Given the description of an element on the screen output the (x, y) to click on. 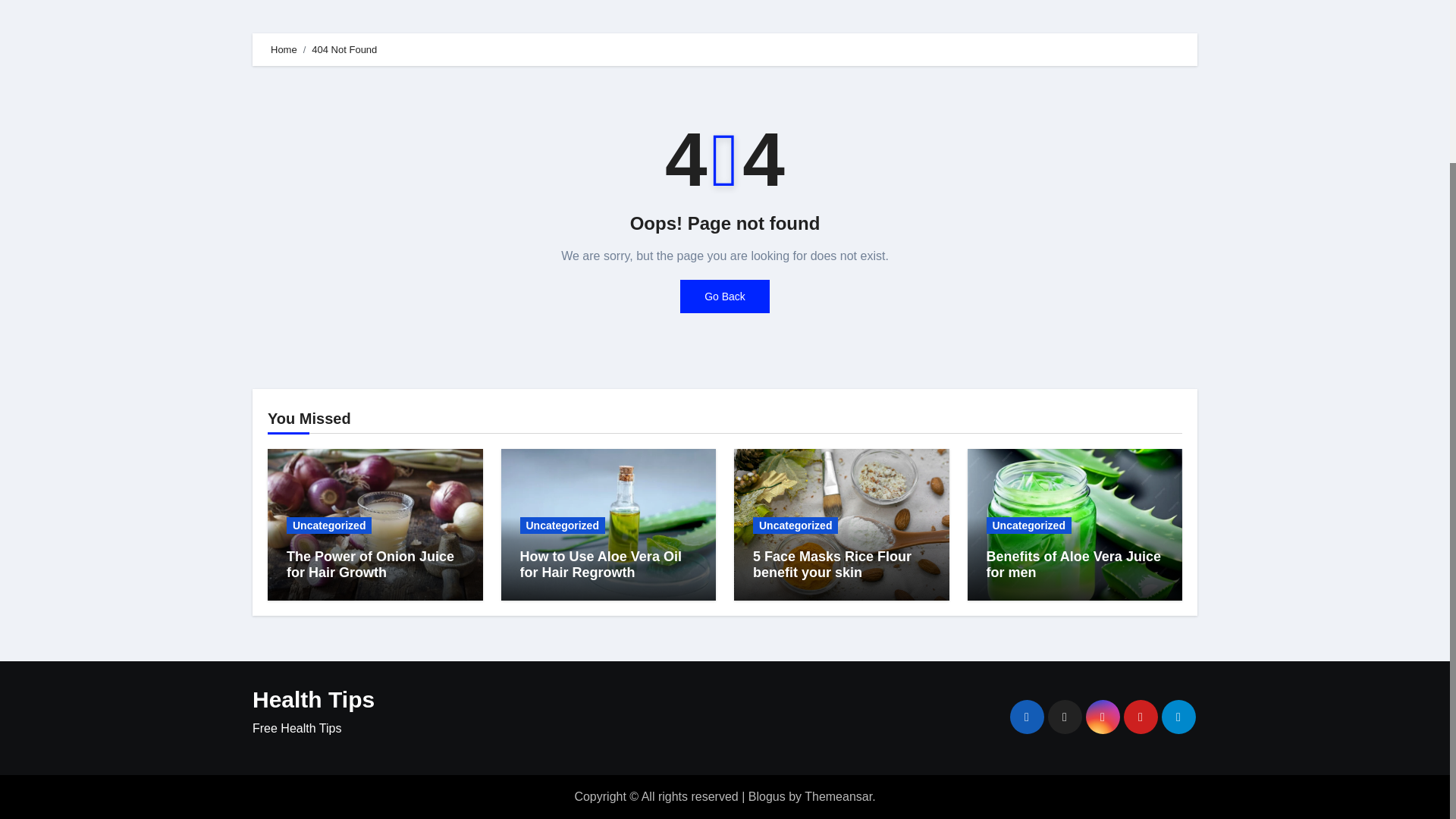
Blogus (767, 796)
Uncategorized (1027, 524)
The Power of Onion Juice for Hair Growth (370, 564)
Themeansar (838, 796)
5 Face Masks Rice Flour benefit your skin (831, 564)
Benefits of Aloe Vera Juice for men (1072, 564)
Uncategorized (562, 524)
Uncategorized (795, 524)
Permalink to: The Power of Onion Juice for Hair Growth (370, 564)
Uncategorized (328, 524)
Go Back (724, 296)
Permalink to: How to Use Aloe Vera Oil for Hair Regrowth (600, 564)
Permalink to: 5 Face Masks Rice Flour benefit your skin (831, 564)
Health Tips (312, 699)
Home (283, 49)
